Given the description of an element on the screen output the (x, y) to click on. 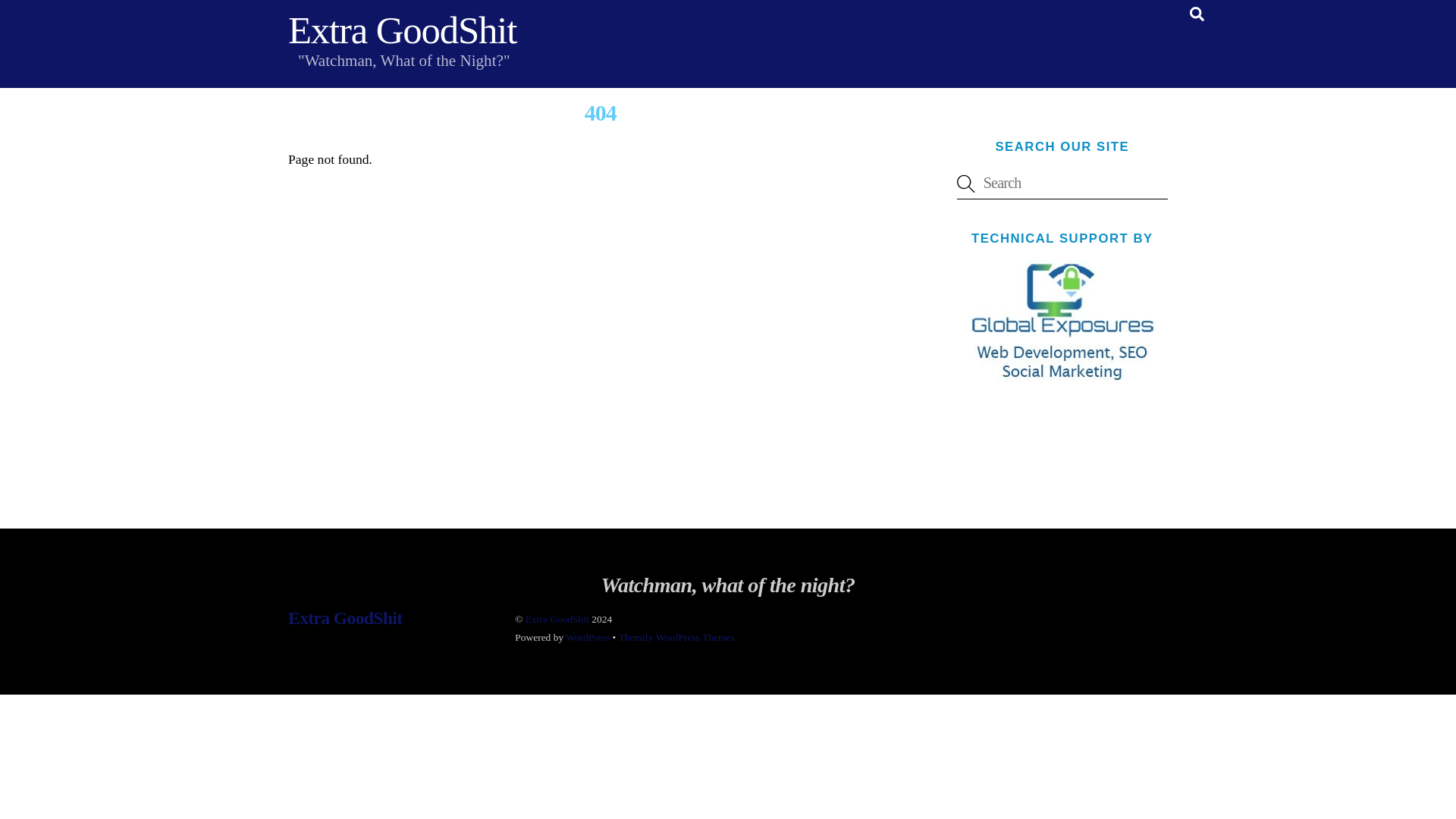
Extra GoodShit (344, 618)
Search (1196, 14)
Themify WordPress Themes (675, 636)
Search (1061, 183)
WordPress (588, 636)
Extra GoodShit (402, 30)
Extra GoodShit (344, 618)
Extra GoodShit (557, 618)
Extra GoodShit (402, 30)
